Given the description of an element on the screen output the (x, y) to click on. 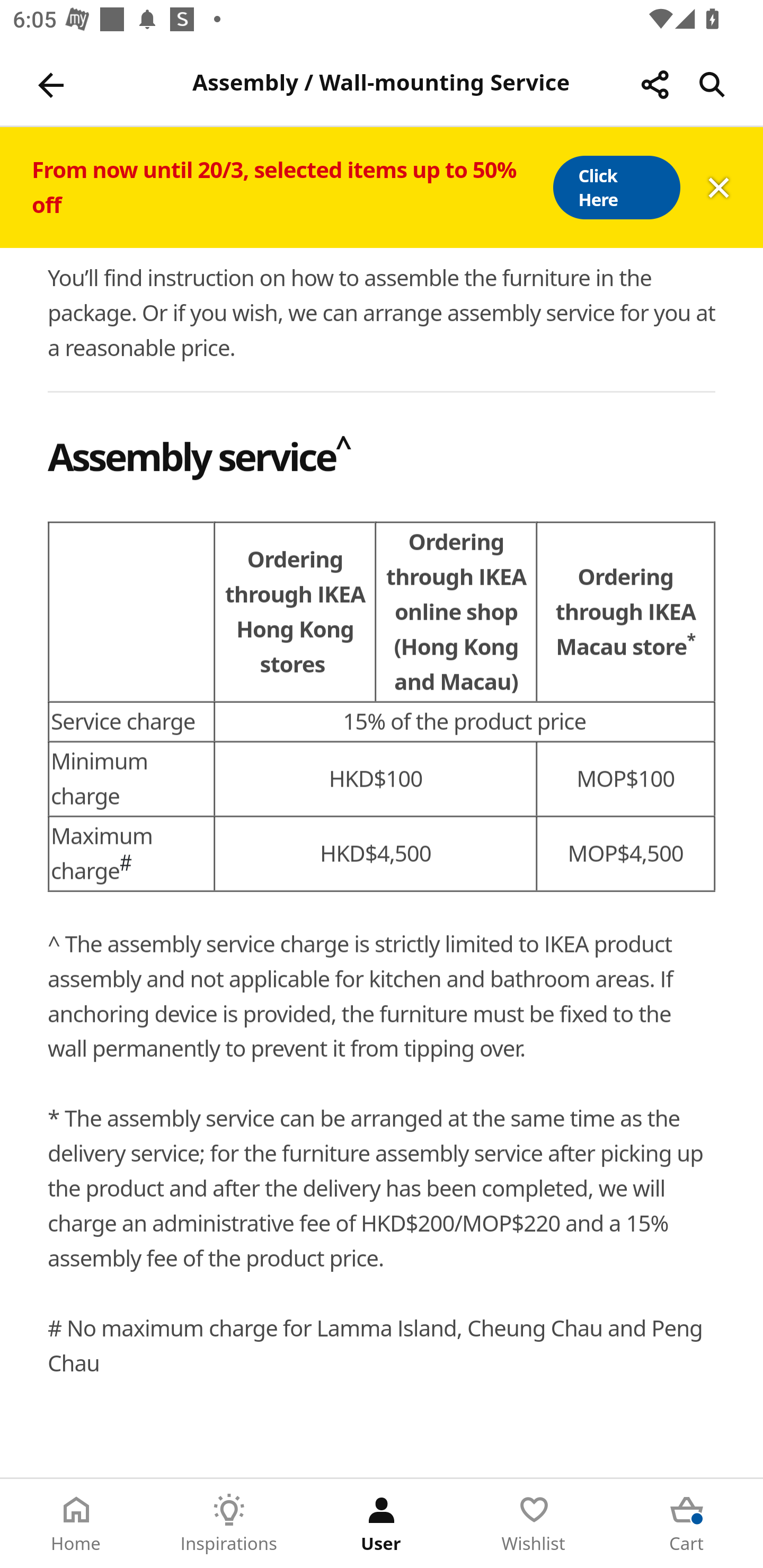
Click Here (615, 187)
Home
Tab 1 of 5 (76, 1522)
Inspirations
Tab 2 of 5 (228, 1522)
User
Tab 3 of 5 (381, 1522)
Wishlist
Tab 4 of 5 (533, 1522)
Cart
Tab 5 of 5 (686, 1522)
